Given the description of an element on the screen output the (x, y) to click on. 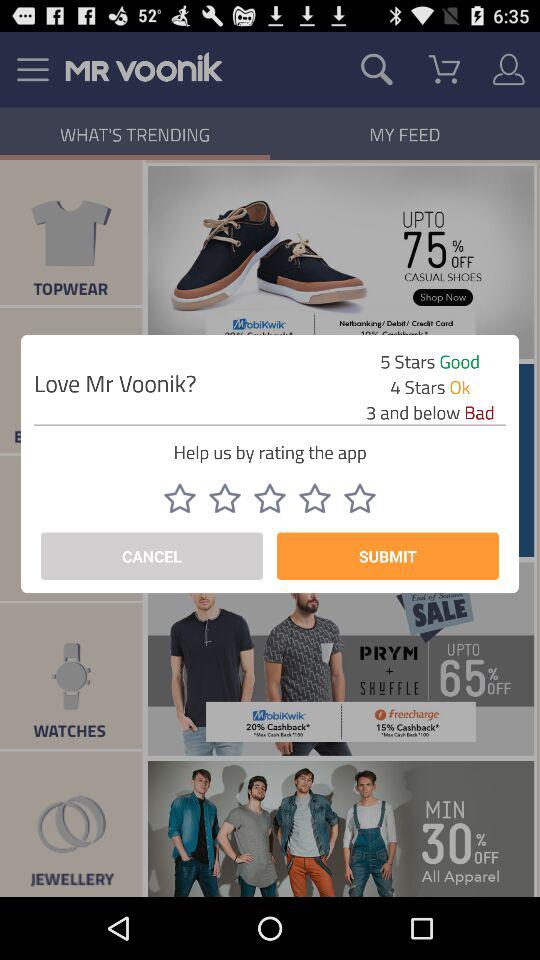
app rating option (180, 498)
